Given the description of an element on the screen output the (x, y) to click on. 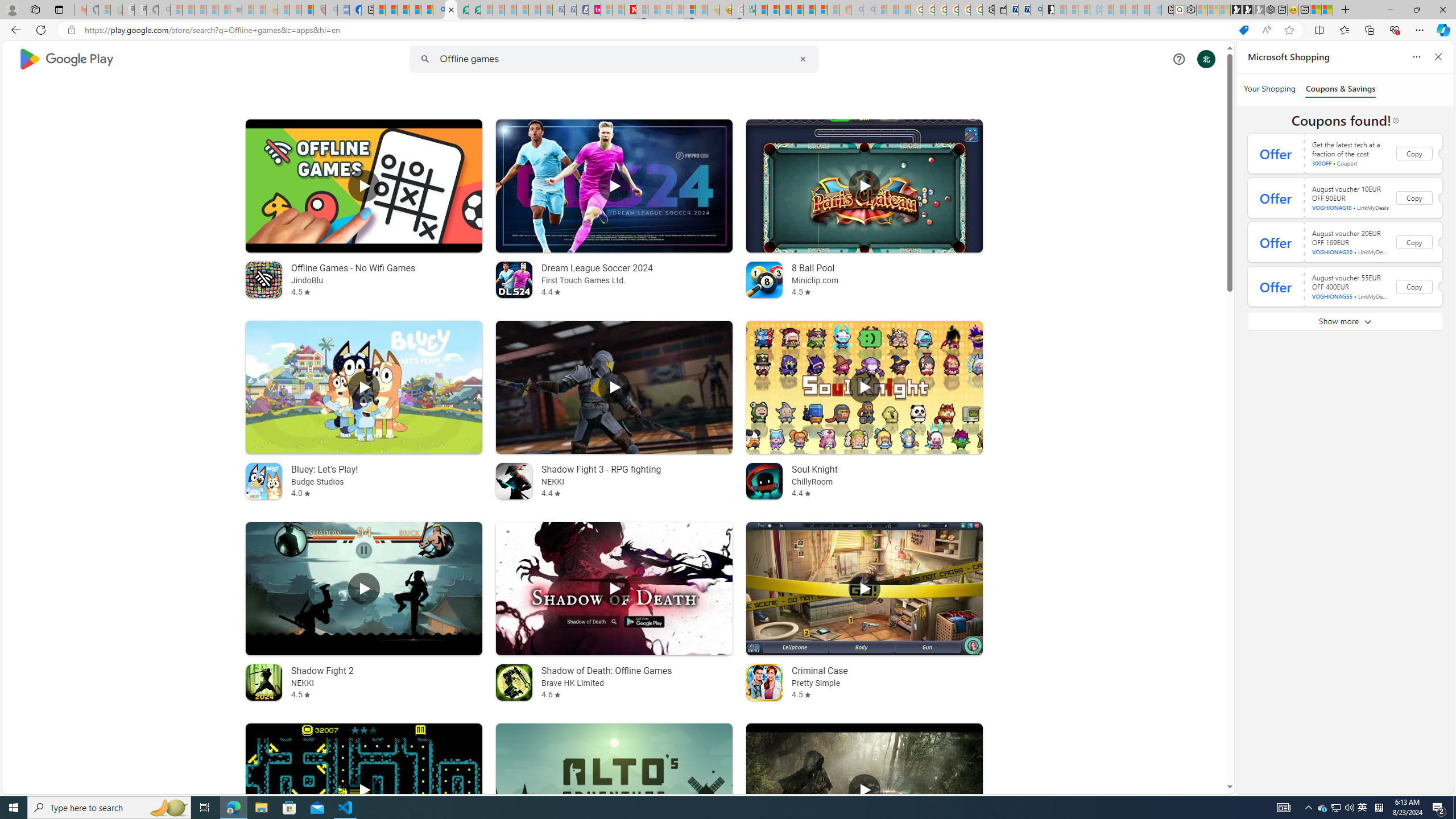
Play Offline Games - No Wifi Games (363, 185)
Search Google Play (613, 58)
Pets - MSN (415, 9)
DITOGAMES AG Imprint (749, 9)
Recipes - MSN - Sleeping (283, 9)
Microsoft Start - Sleeping (1131, 9)
NCL Adult Asthma Inhaler Choice Guideline - Sleeping (343, 9)
Favorites (1344, 29)
